Given the description of an element on the screen output the (x, y) to click on. 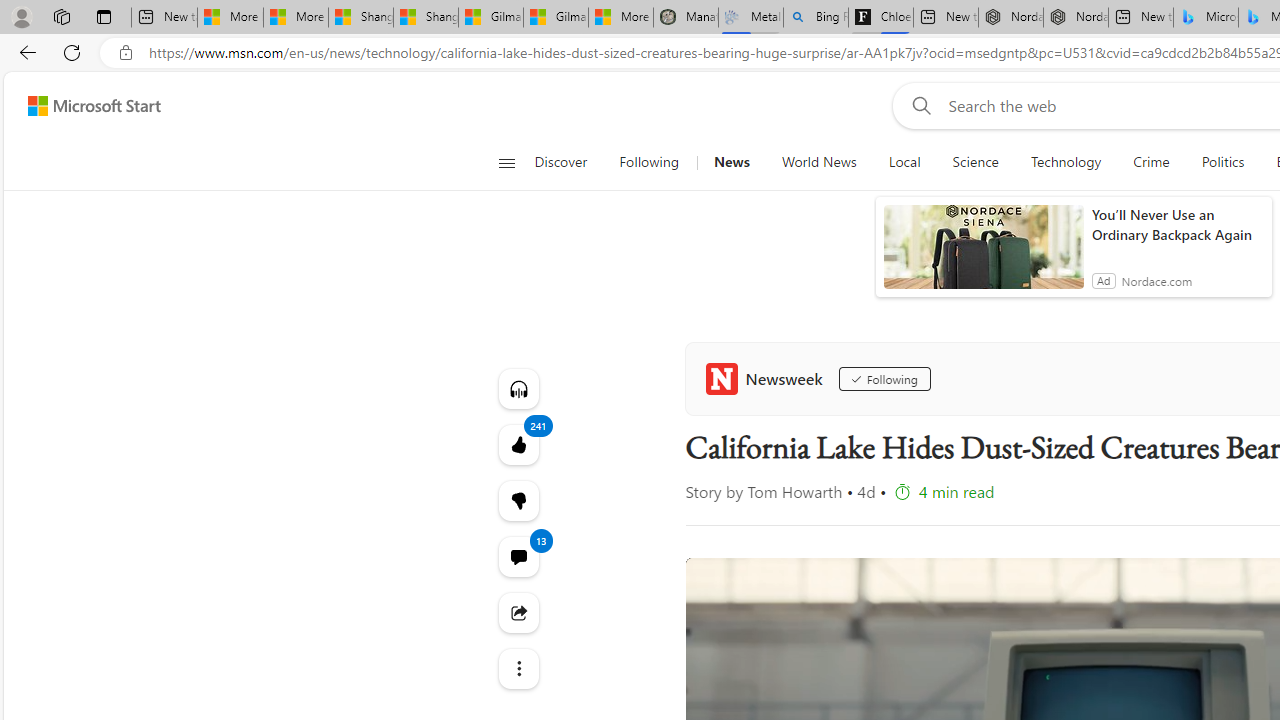
Share this story (517, 612)
Listen to this article (517, 388)
Politics (1222, 162)
Technology (1066, 162)
More like this241Fewer like thisView comments (517, 500)
